Given the description of an element on the screen output the (x, y) to click on. 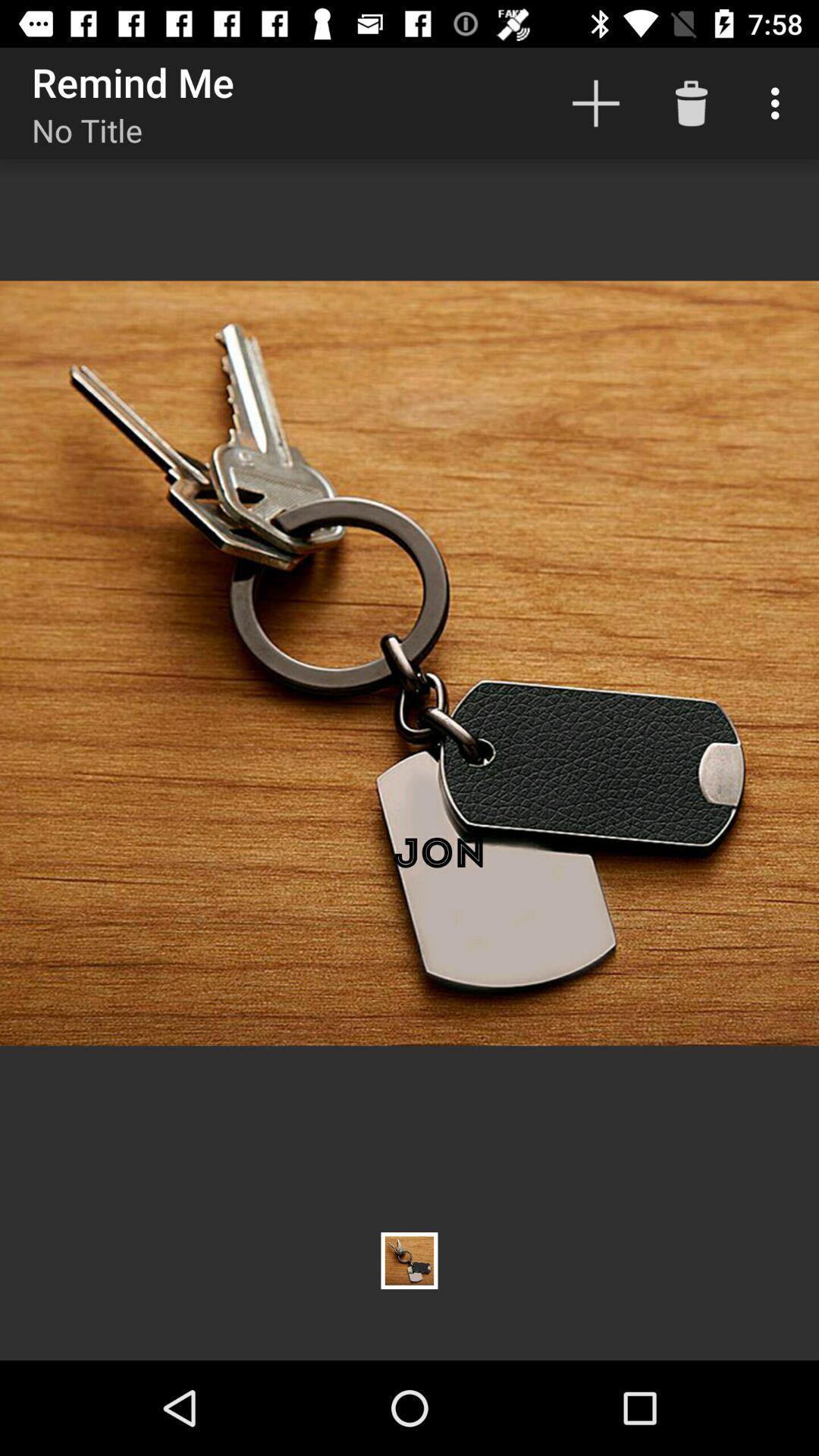
press the icon next to remind me icon (595, 103)
